Given the description of an element on the screen output the (x, y) to click on. 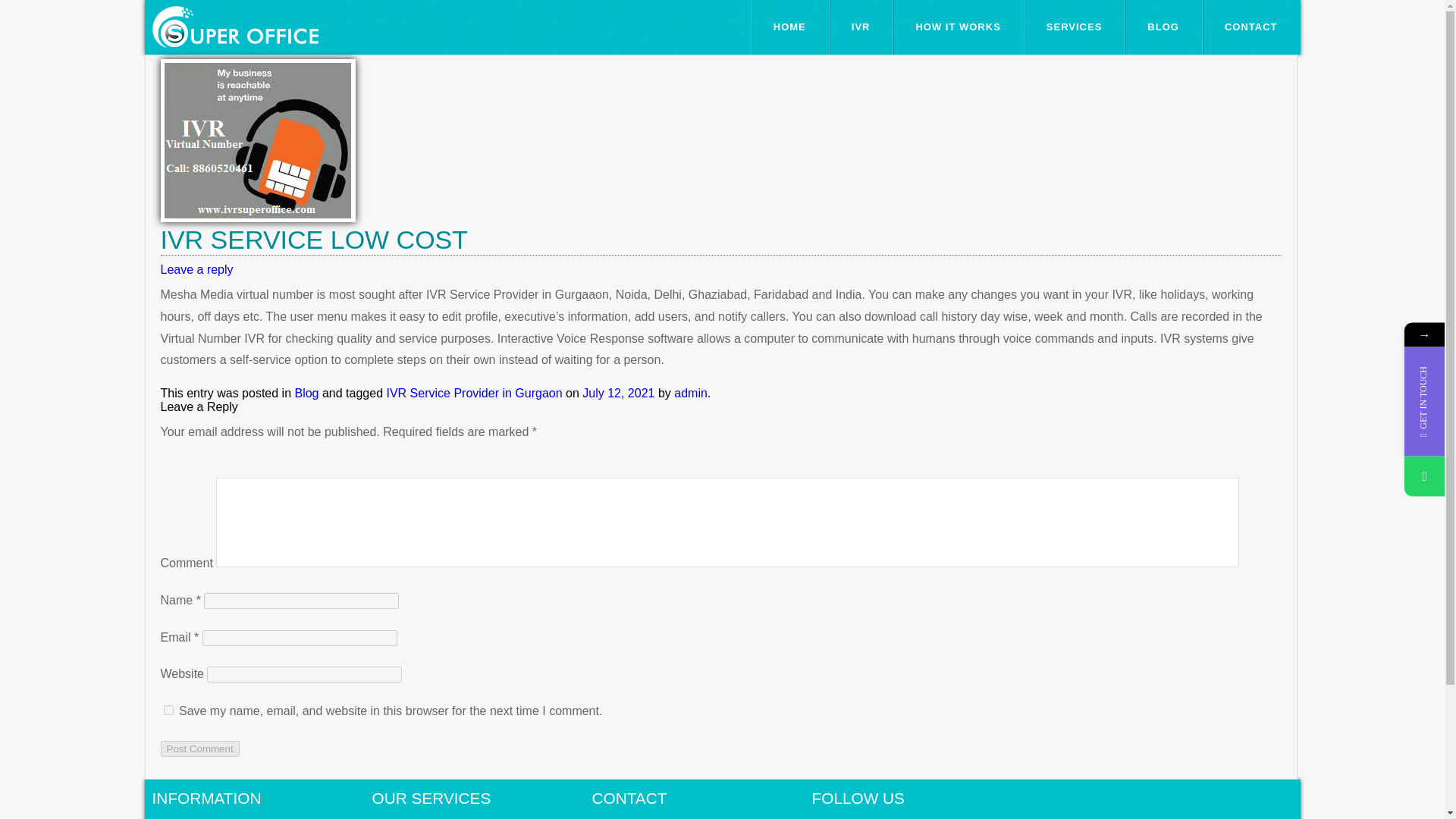
IVR Service Provider in Gurgaon (473, 392)
Post Comment (200, 748)
logo (234, 26)
BLOG (1163, 27)
9:32 am (617, 392)
admin (690, 392)
July 12, 2021 (617, 392)
Post Comment (200, 748)
CONTACT (1251, 27)
IVR (860, 27)
HOW IT WORKS (957, 27)
Leave a reply (196, 269)
SERVICES (1074, 27)
yes (168, 709)
Blog (306, 392)
